Given the description of an element on the screen output the (x, y) to click on. 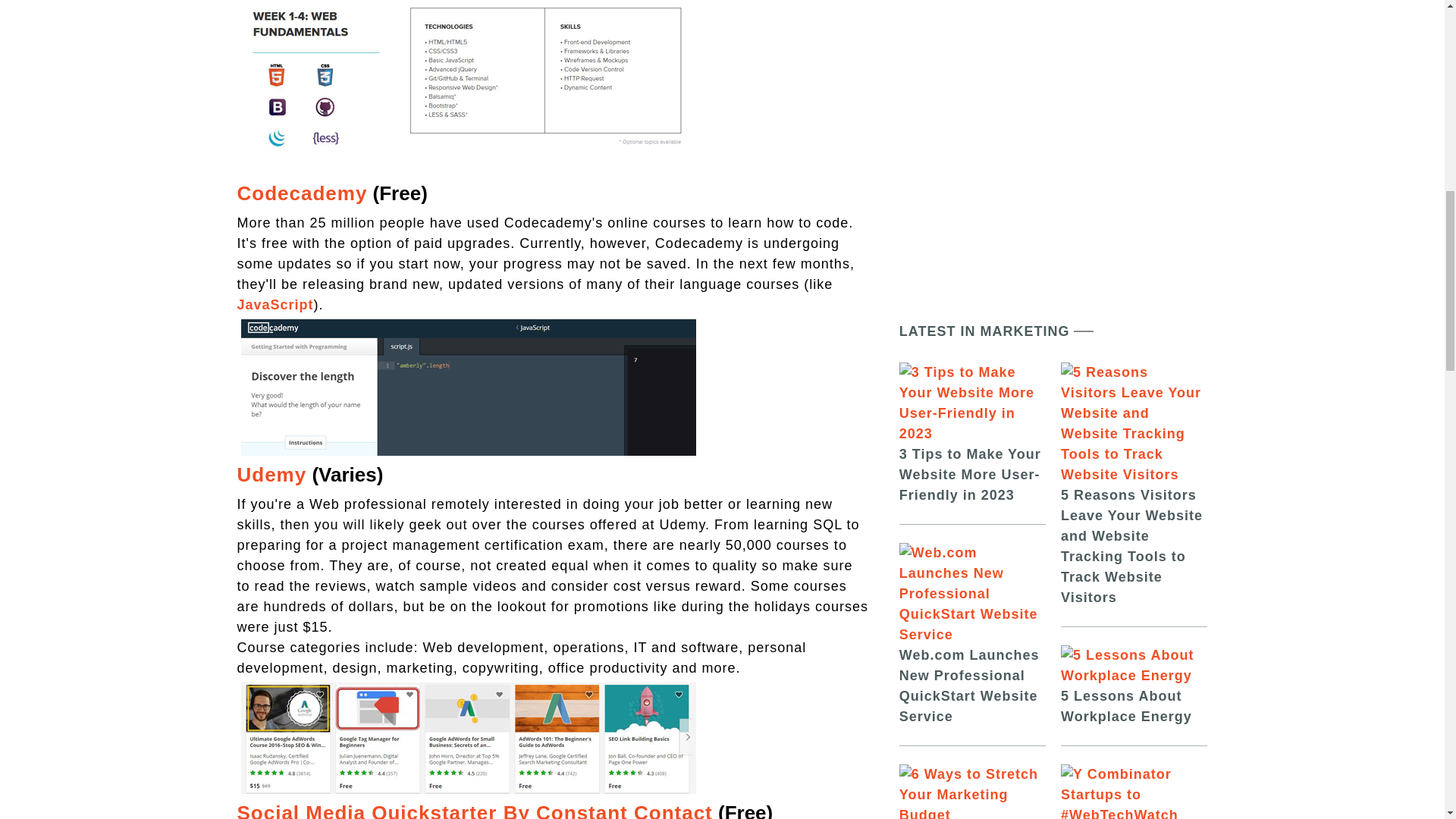
Codecademy (300, 192)
Udemy (270, 474)
JavaScript (274, 304)
